Given the description of an element on the screen output the (x, y) to click on. 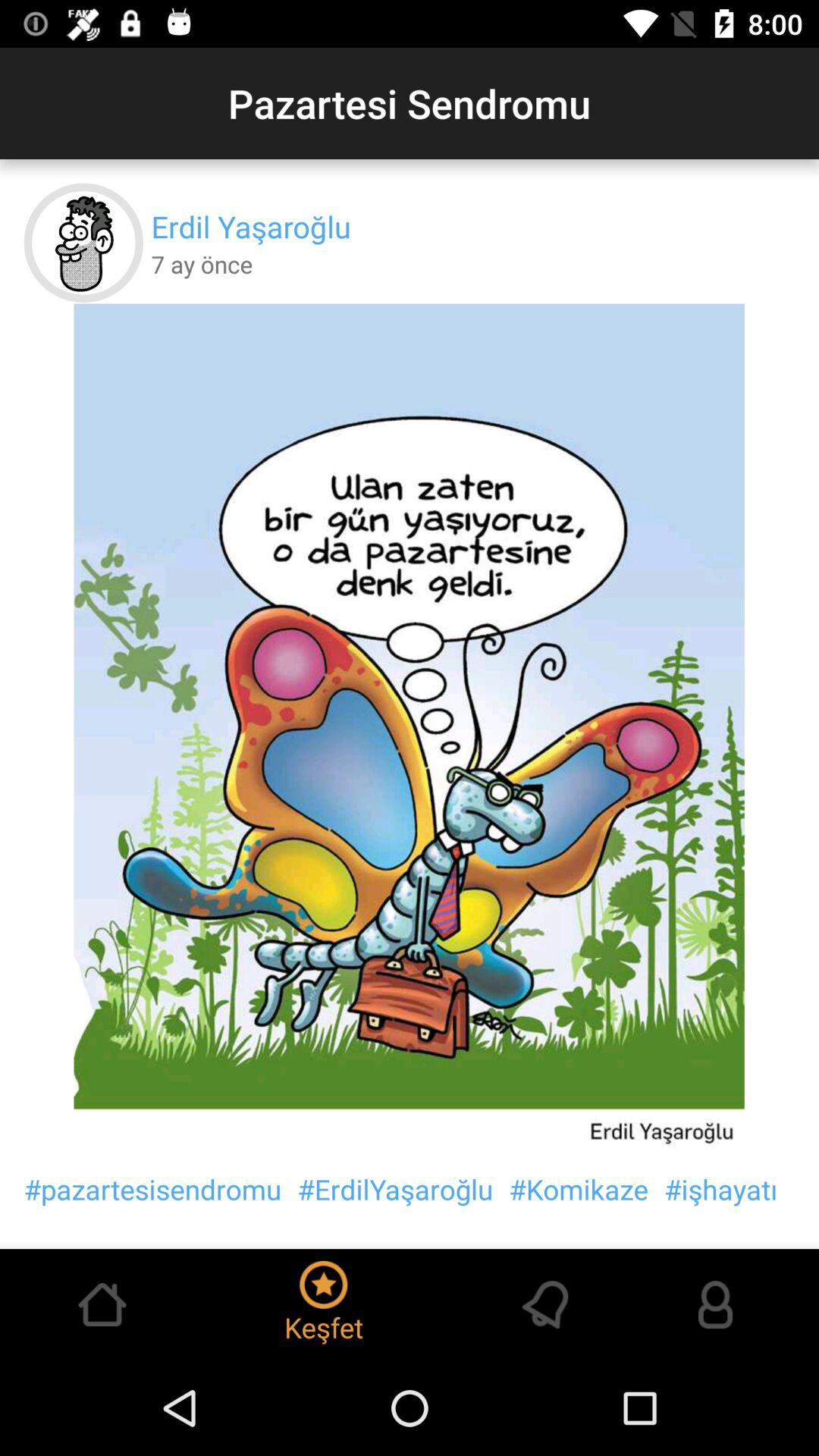
tap the icon to the left of #komikaze item (395, 1189)
